Given the description of an element on the screen output the (x, y) to click on. 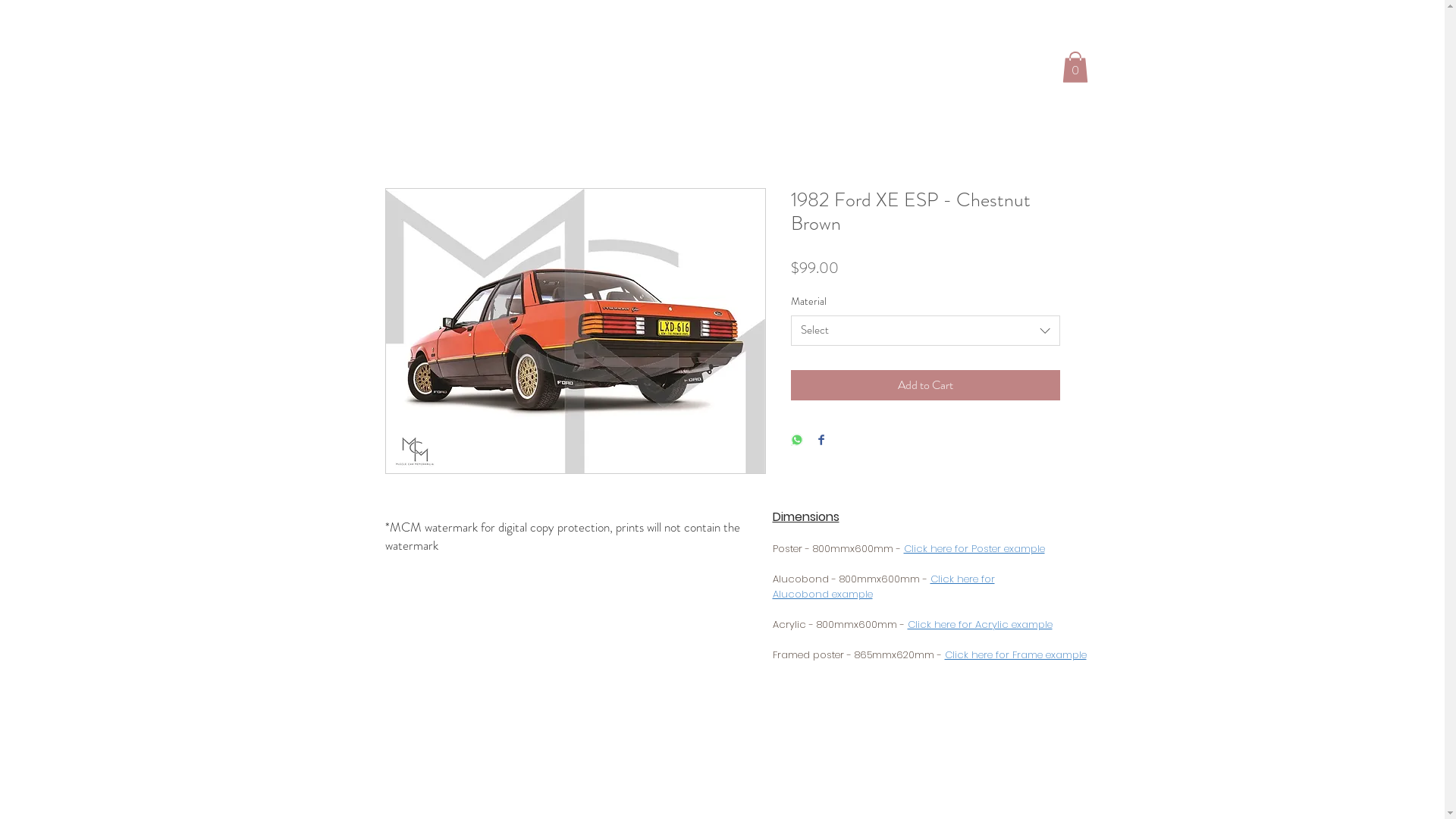
Click here for Alucobond example Element type: text (882, 586)
Add to Cart Element type: text (924, 385)
Select Element type: text (924, 330)
Click here for Frame example Element type: text (1015, 654)
0 Element type: text (1074, 66)
Click here for Poster example Element type: text (973, 548)
Click here for Acrylic example Element type: text (978, 624)
